Given the description of an element on the screen output the (x, y) to click on. 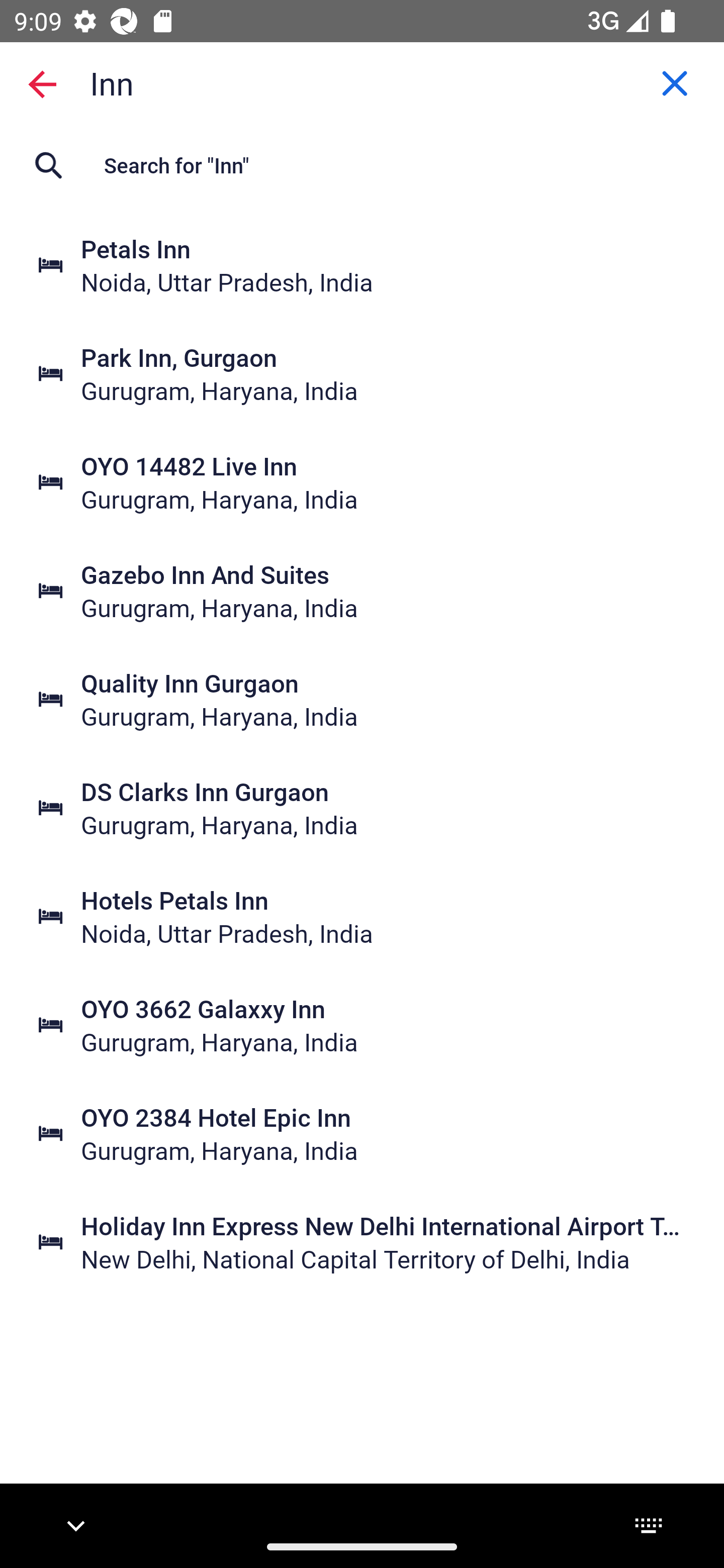
Clear query (674, 82)
Property name, Inn (361, 82)
Back to search screen (41, 83)
Search for "Inn" (362, 165)
